Given the description of an element on the screen output the (x, y) to click on. 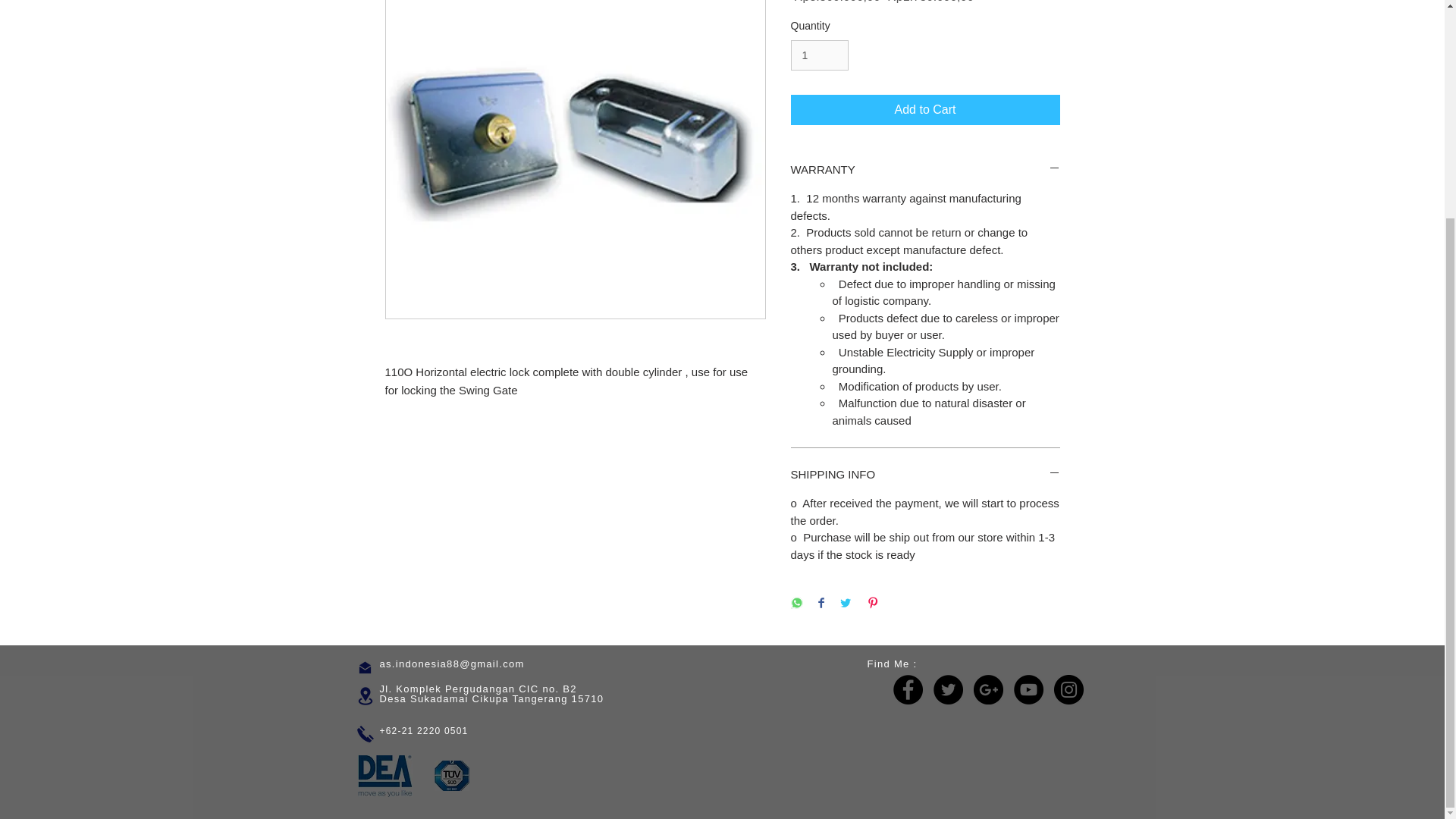
WARRANTY (924, 169)
Add to Cart (924, 110)
SHIPPING INFO (924, 474)
1 (818, 55)
